Given the description of an element on the screen output the (x, y) to click on. 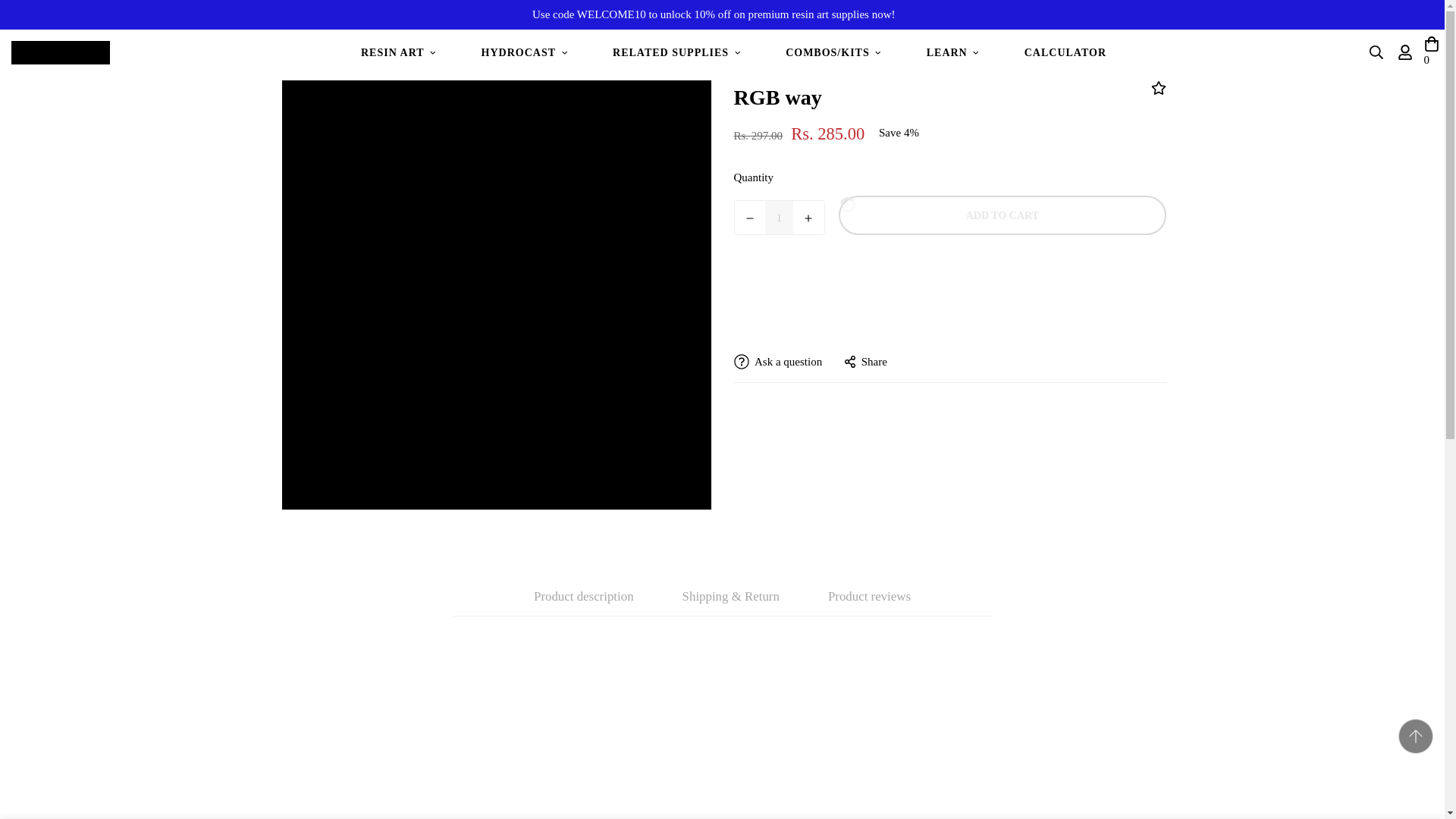
HYDROCAST (524, 52)
Pourfect - Resin Art Store (60, 52)
RESIN ART (397, 52)
Back to the home page (652, 49)
RELATED SUPPLIES (676, 52)
